Given the description of an element on the screen output the (x, y) to click on. 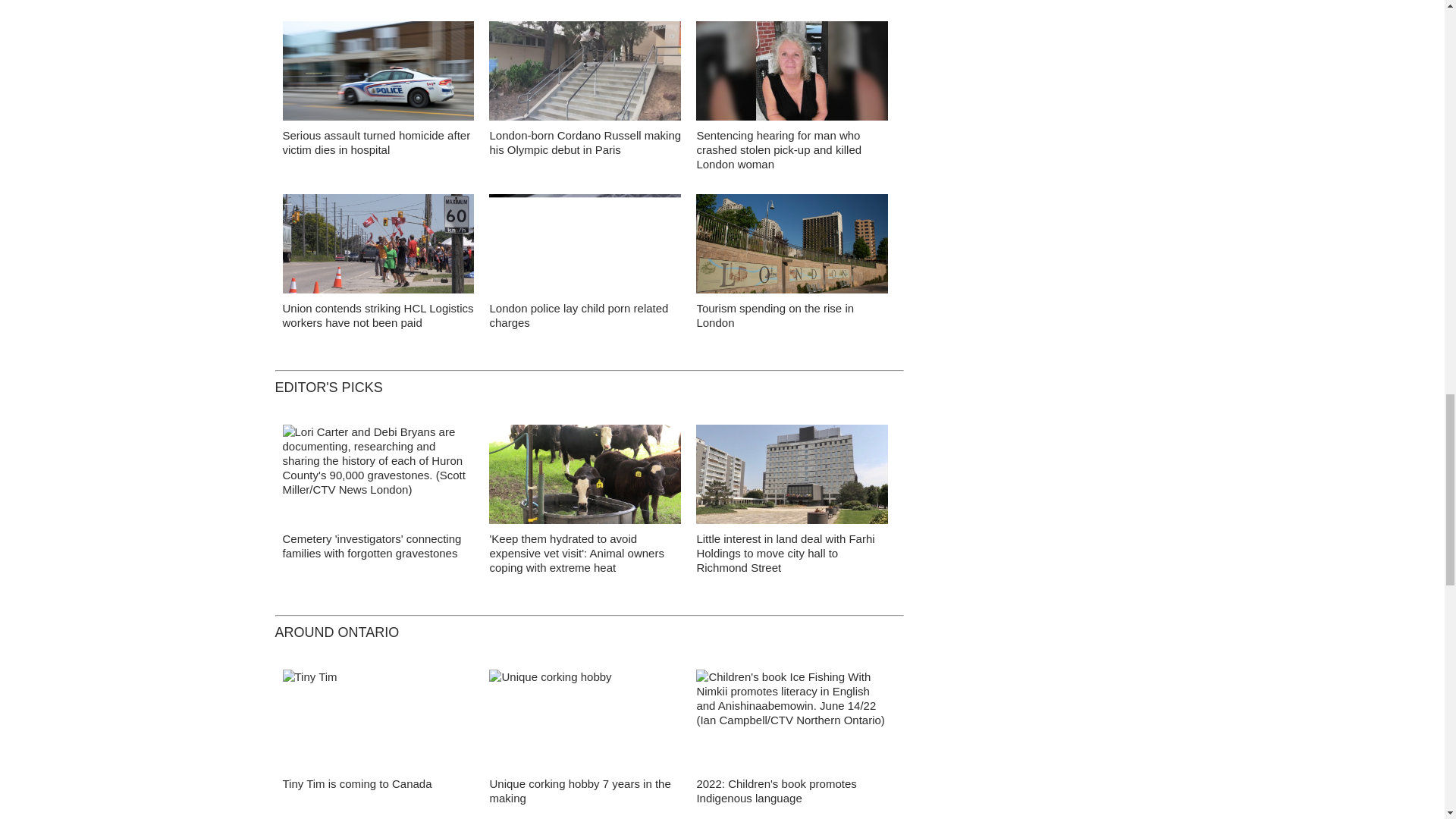
Striking HCL workers (378, 248)
cordano russell - video still (585, 74)
London police  (378, 74)
colleen slota - london crash - april 2023 (791, 74)
